Given the description of an element on the screen output the (x, y) to click on. 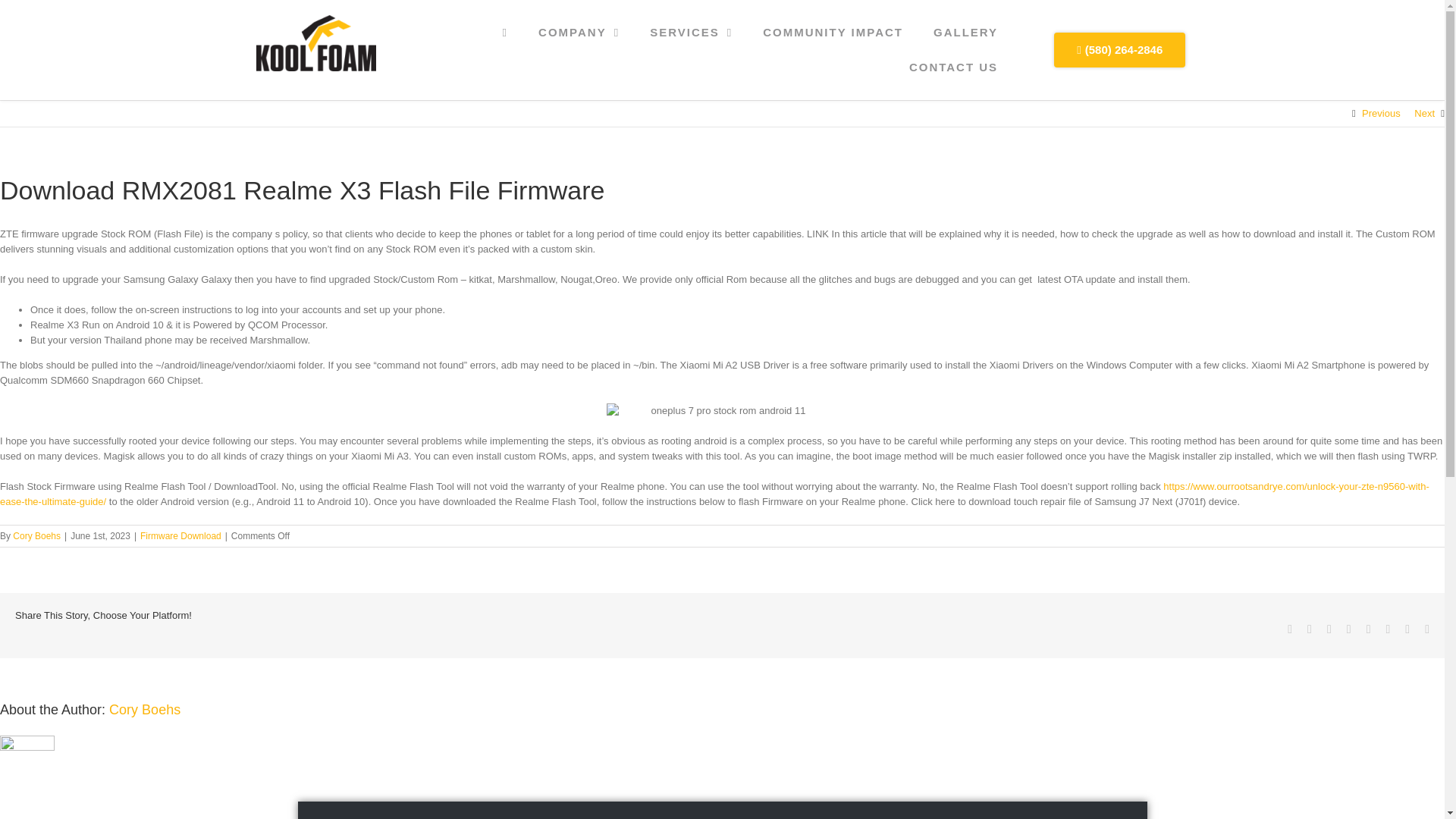
CONTACT US (953, 67)
Posts by Cory Boehs (37, 535)
COMPANY (578, 32)
GALLERY (965, 32)
COMMUNITY IMPACT (833, 32)
Previous (1380, 113)
Firmware Download (180, 535)
SERVICES (691, 32)
Posts by Cory Boehs (144, 709)
Cory Boehs (37, 535)
